Given the description of an element on the screen output the (x, y) to click on. 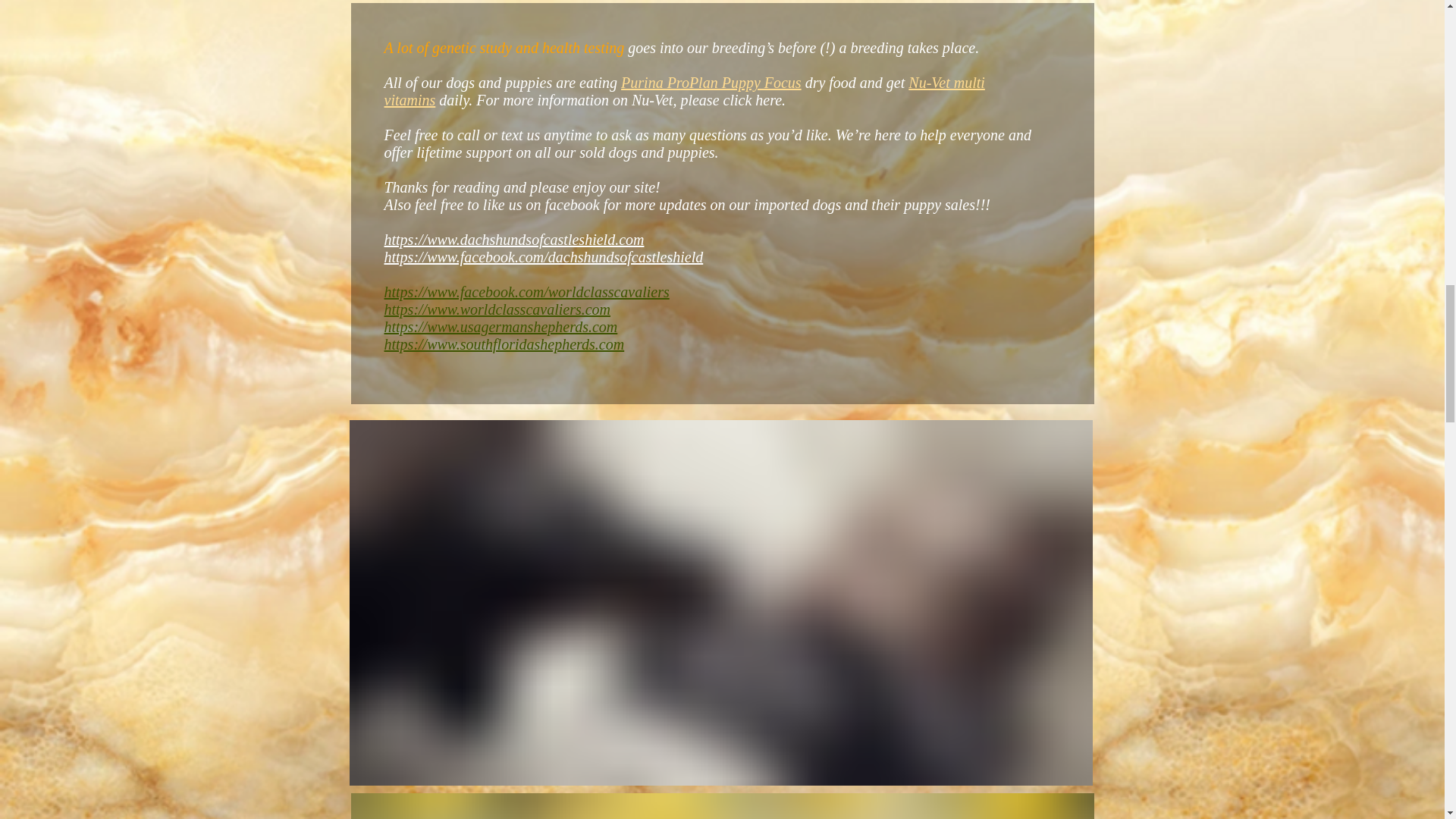
Purina ProPlan Puppy Focus (711, 82)
Nu-Vet multi vitamins (684, 91)
